Given the description of an element on the screen output the (x, y) to click on. 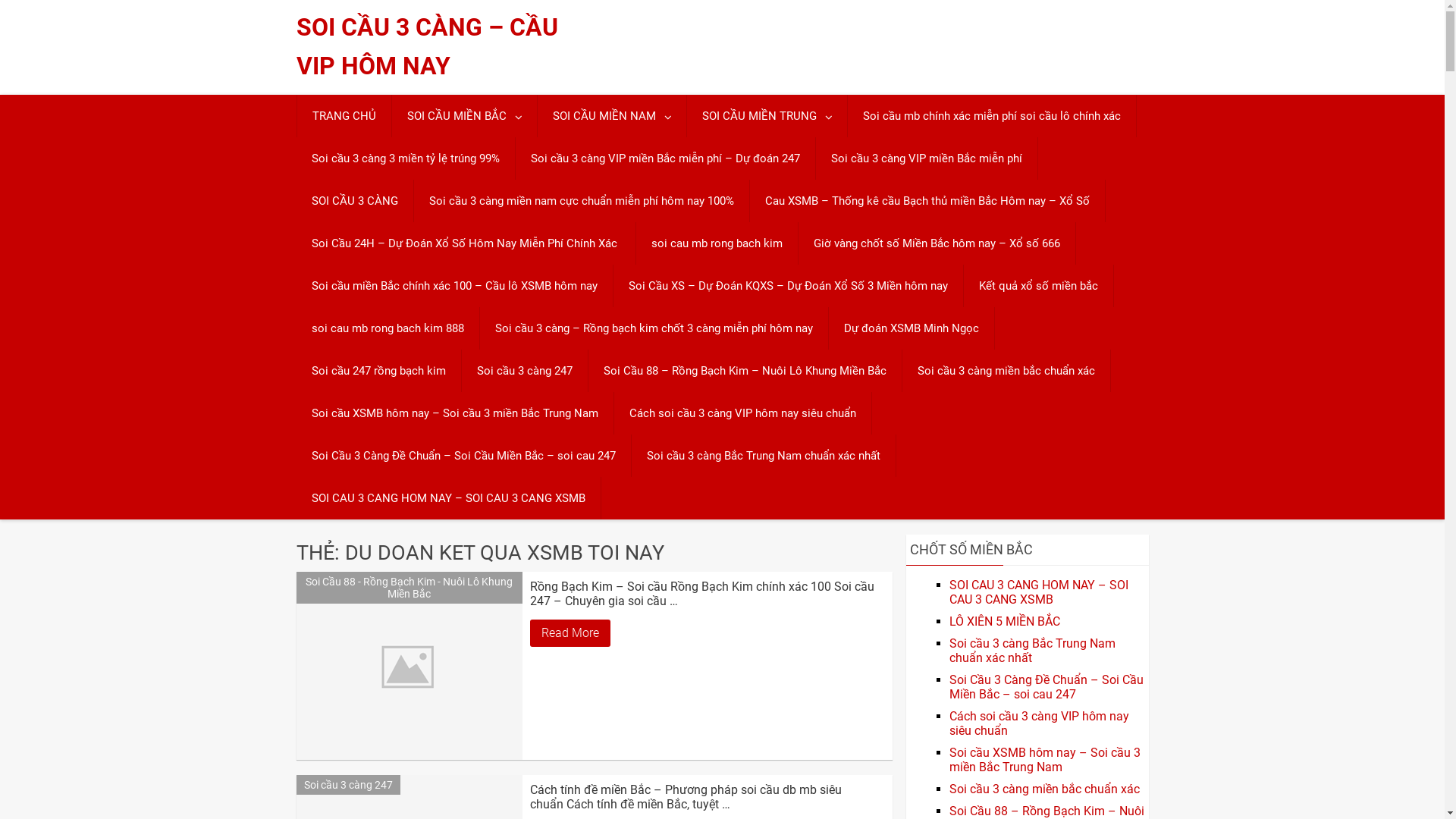
soi cau mb rong bach kim 888 Element type: text (386, 328)
Read More Element type: text (569, 632)
soi cau mb rong bach kim Element type: text (716, 243)
Skip to content Element type: text (0, 0)
